Given the description of an element on the screen output the (x, y) to click on. 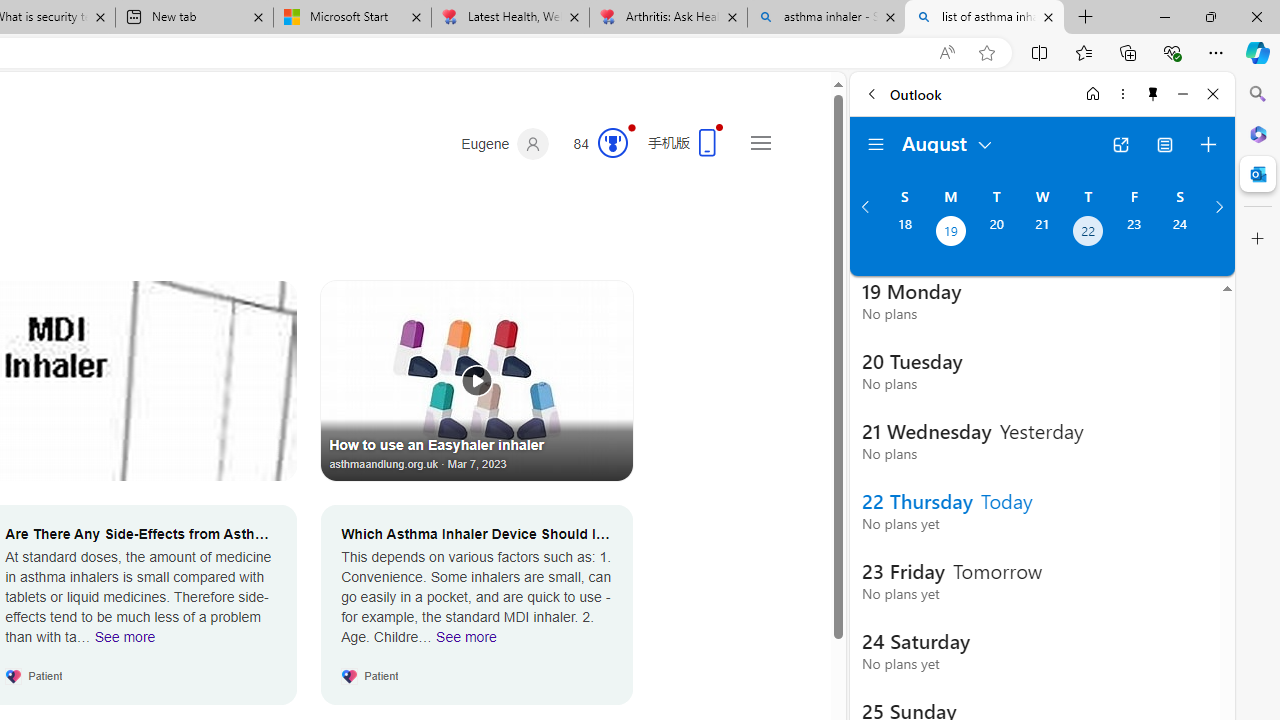
View Switcher. Current view is Agenda view (1165, 144)
AutomationID: rh_meter (612, 142)
Create event (1208, 144)
Open in new tab (1120, 144)
Thursday, August 22, 2024. Today.  (1088, 233)
Folder navigation (876, 144)
Saturday, August 24, 2024.  (1180, 233)
